Given the description of an element on the screen output the (x, y) to click on. 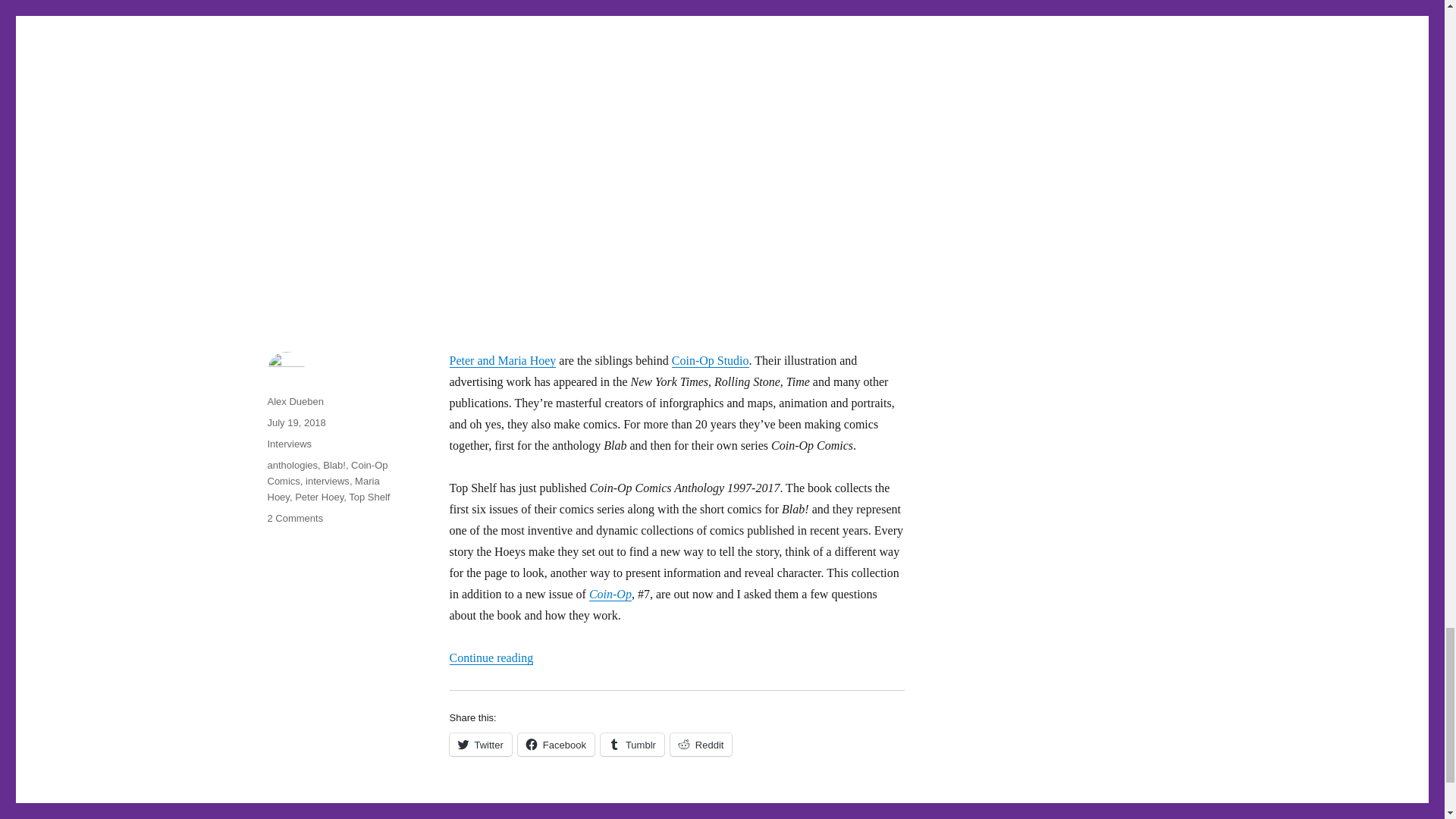
Click to share on Facebook (556, 744)
Click to share on Twitter (479, 744)
Click to share on Tumblr (631, 744)
